Given the description of an element on the screen output the (x, y) to click on. 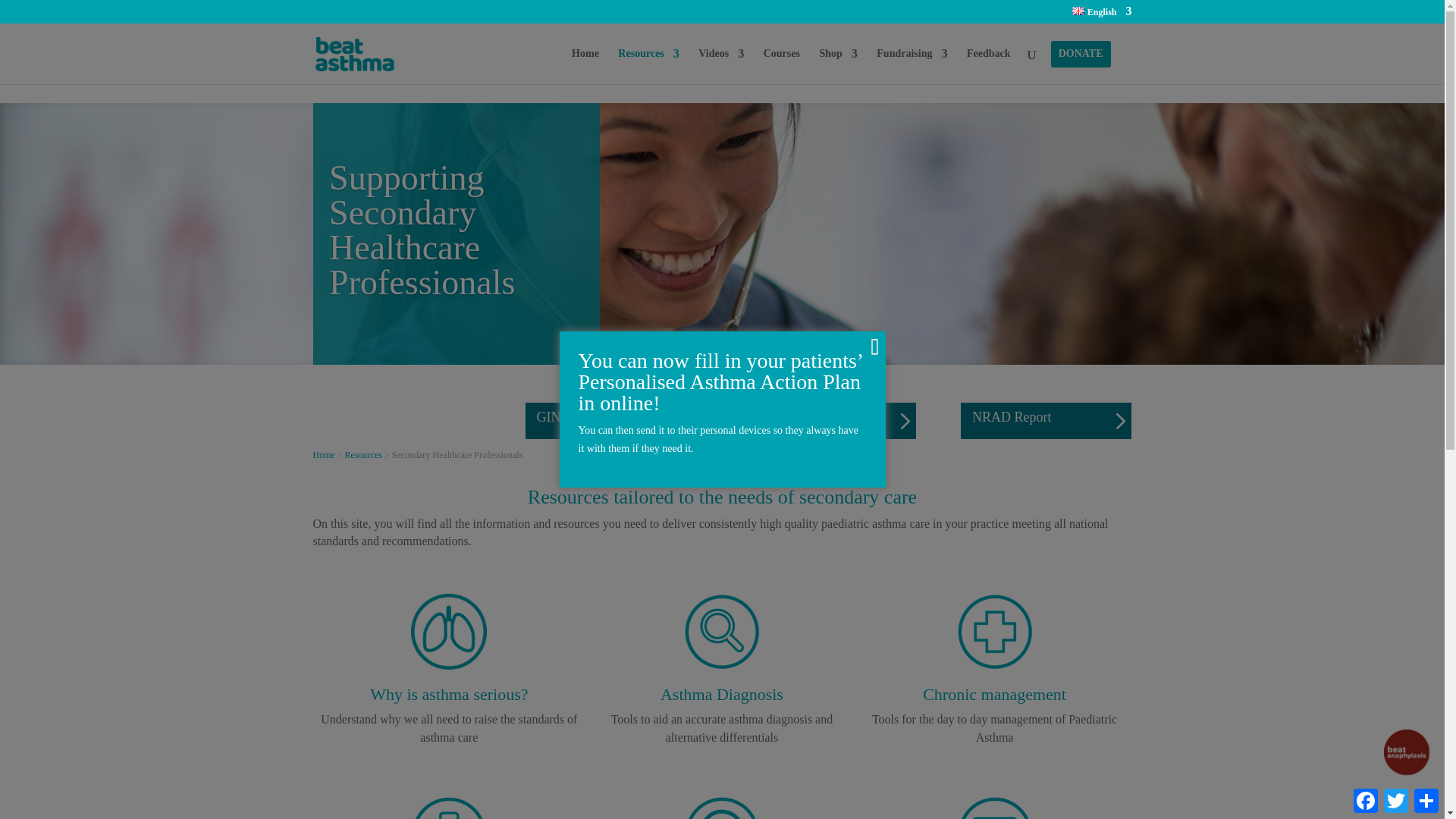
DONATE (1080, 66)
Asthma Diagnosis (722, 665)
Resources (647, 66)
Videos (721, 66)
Asthma Diagnosis (722, 693)
Chronic management (994, 665)
Chronic management (994, 693)
English (1101, 14)
Why is asthma serious? (448, 665)
Facebook (1365, 800)
Fundraising (911, 66)
Why is asthma serious? (448, 693)
Shop (837, 66)
Courses (780, 66)
Feedback (988, 66)
